Given the description of an element on the screen output the (x, y) to click on. 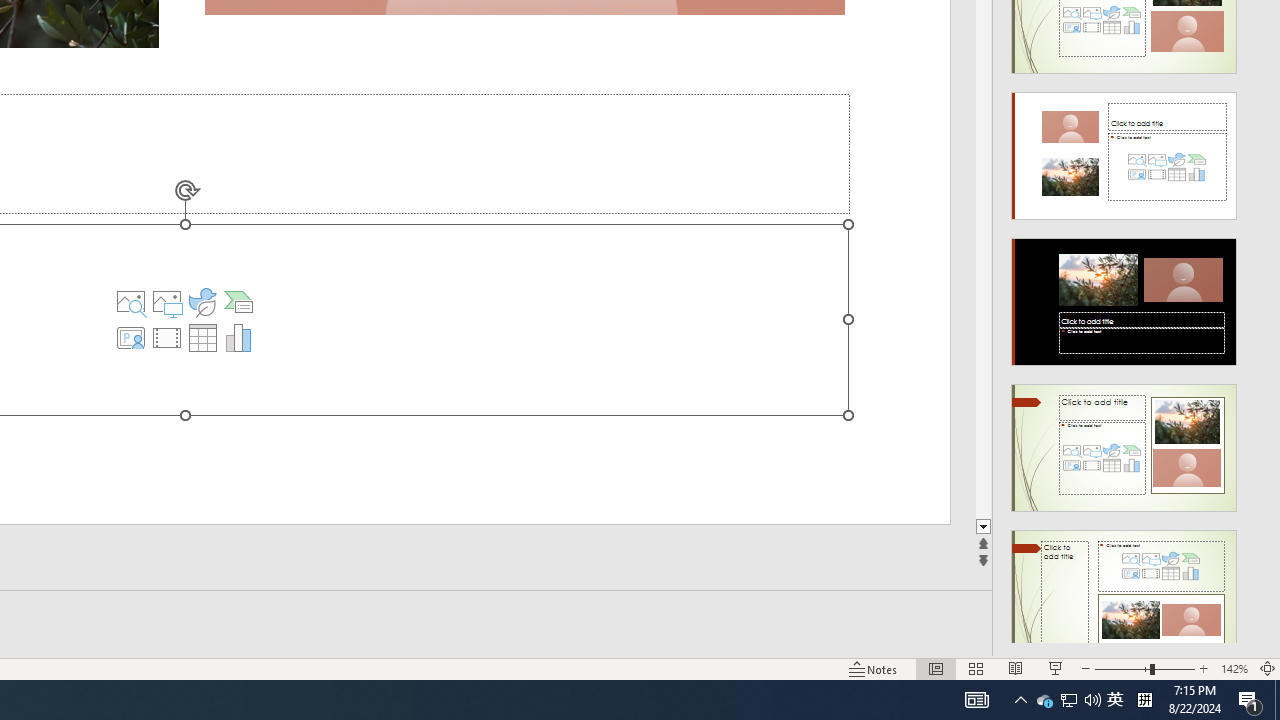
Insert an Icon (202, 301)
